Given the description of an element on the screen output the (x, y) to click on. 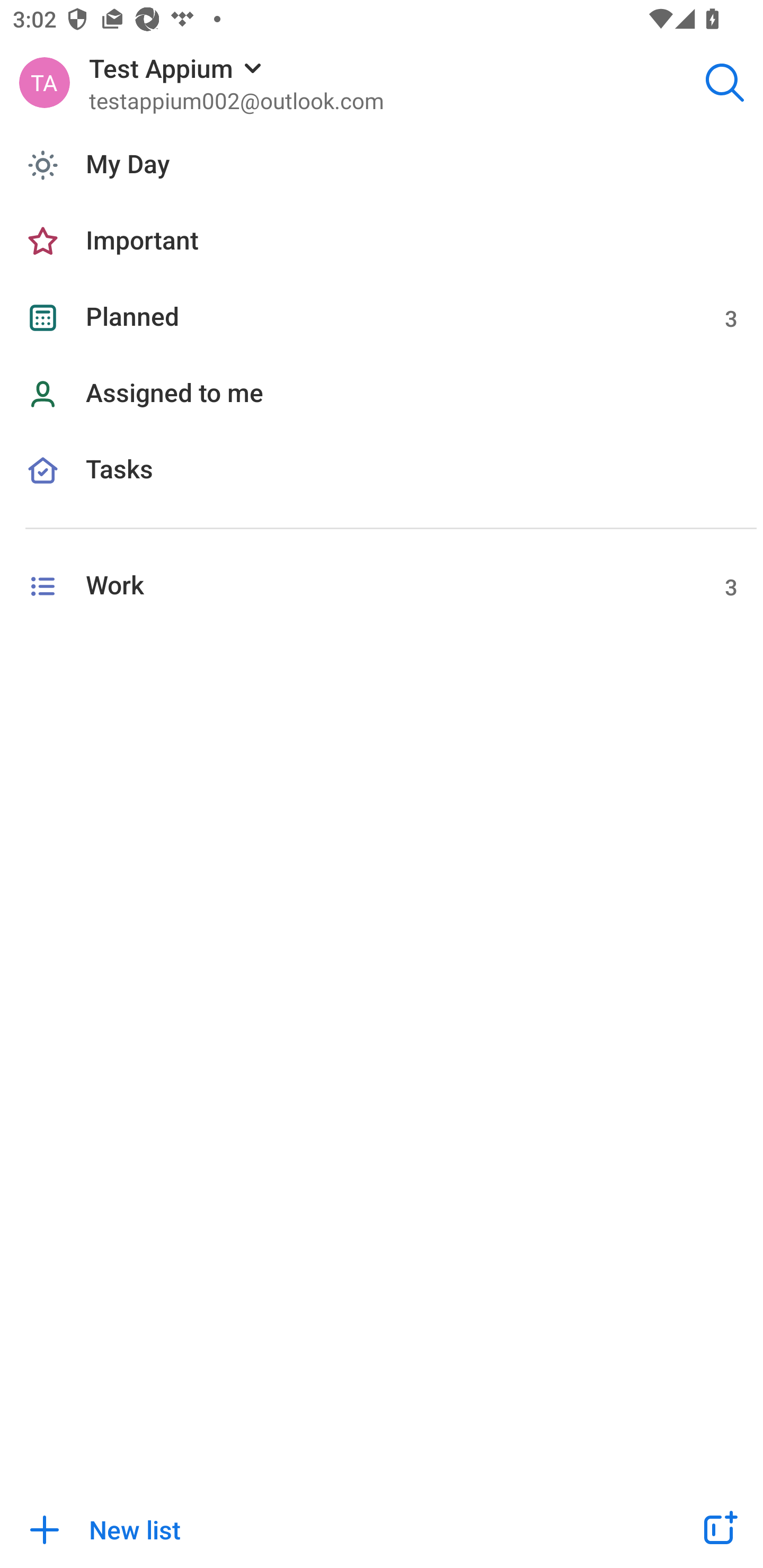
Tasks (381, 490)
